Given the description of an element on the screen output the (x, y) to click on. 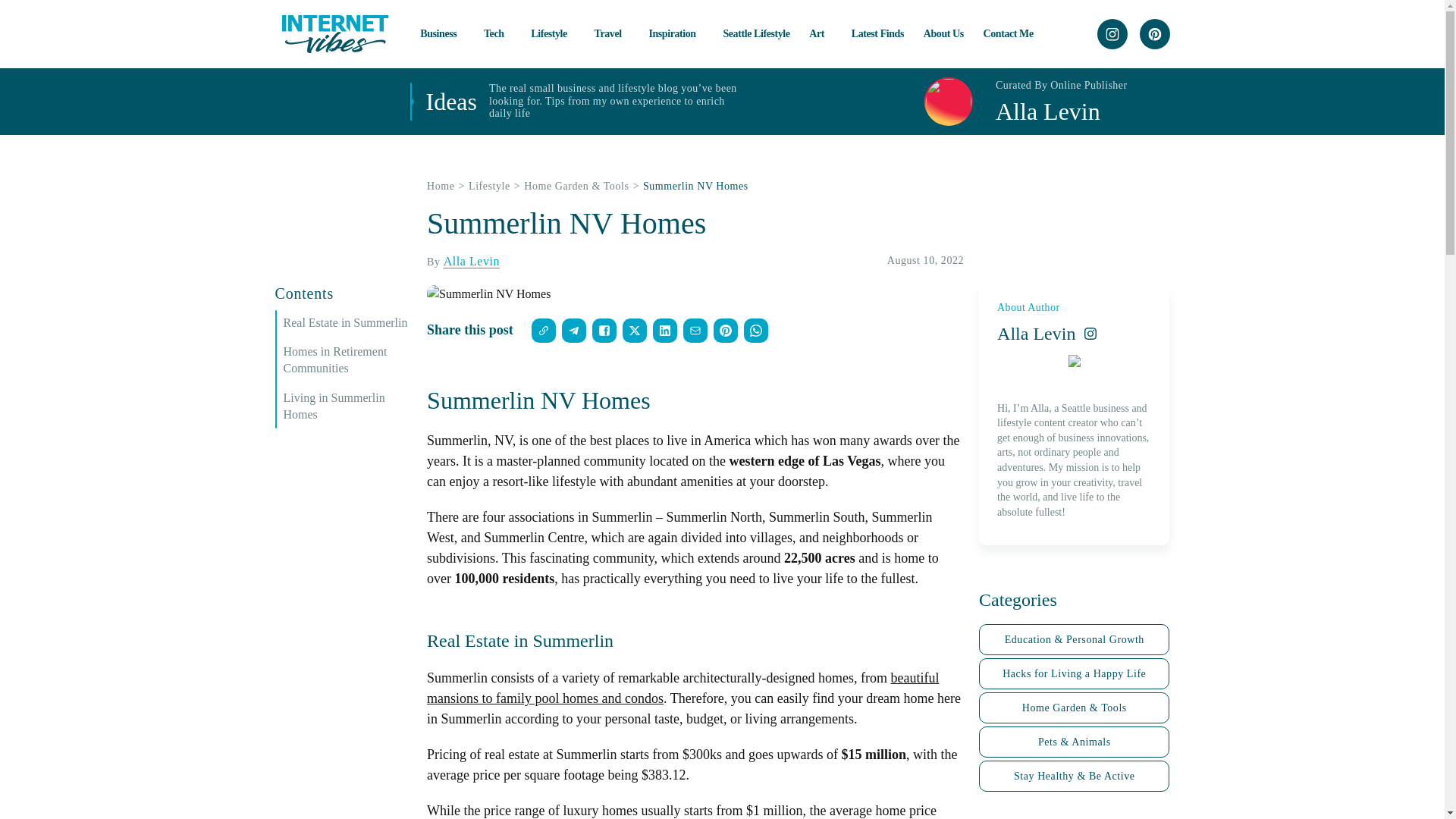
Inspiration (675, 33)
Living in Summerlin Homes (347, 406)
Travel (611, 33)
Tech (497, 33)
Homes in Retirement Communities (347, 360)
Lifestyle (553, 33)
Business (442, 33)
Real Estate in Summerlin (347, 322)
